Given the description of an element on the screen output the (x, y) to click on. 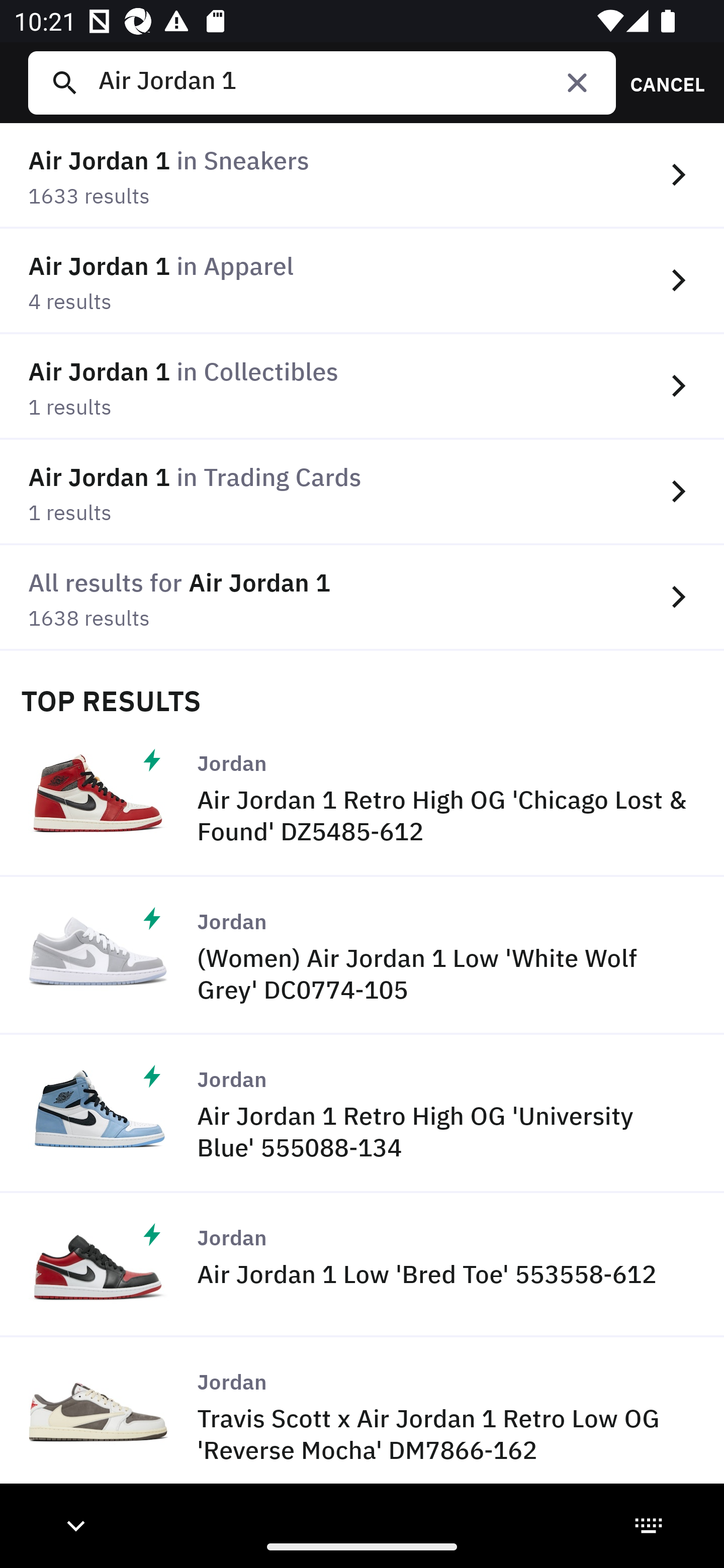
CANCEL (660, 82)
Air Jordan 1 (349, 82)
 (577, 82)
Air Jordan 1  in Sneakers 1633 results  (362, 175)
Air Jordan 1  in Apparel 4 results  (362, 280)
Air Jordan 1  in Collectibles 1 results  (362, 386)
Air Jordan 1  in Trading Cards 1 results  (362, 492)
All results for  Air Jordan 1 1638 results  (362, 597)
 Jordan Air Jordan 1 Low 'Bred Toe' 553558‑612 (362, 1265)
